Given the description of an element on the screen output the (x, y) to click on. 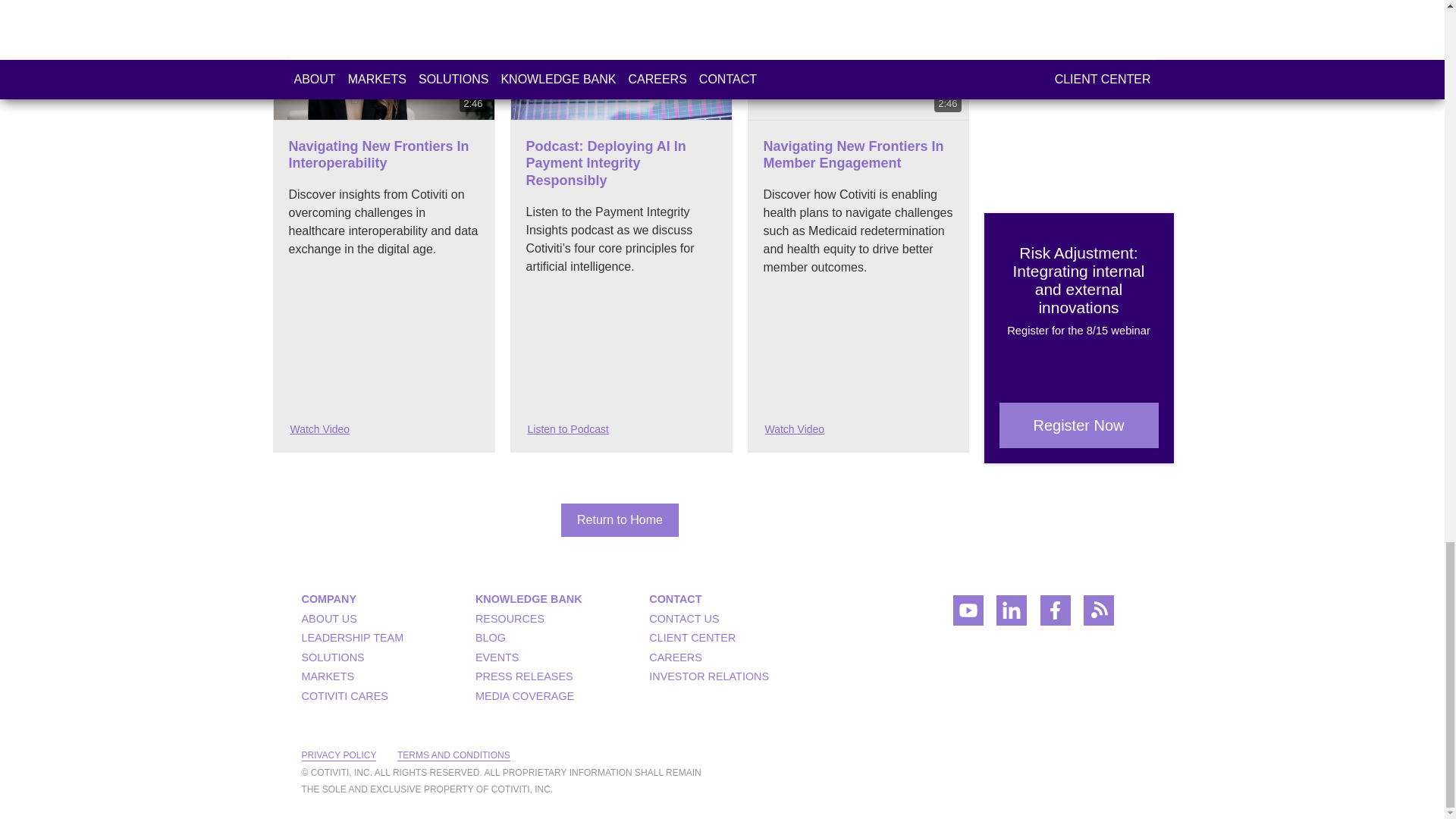
Facebook (1055, 615)
LinkedIn (1010, 615)
YouTube (968, 615)
